Given the description of an element on the screen output the (x, y) to click on. 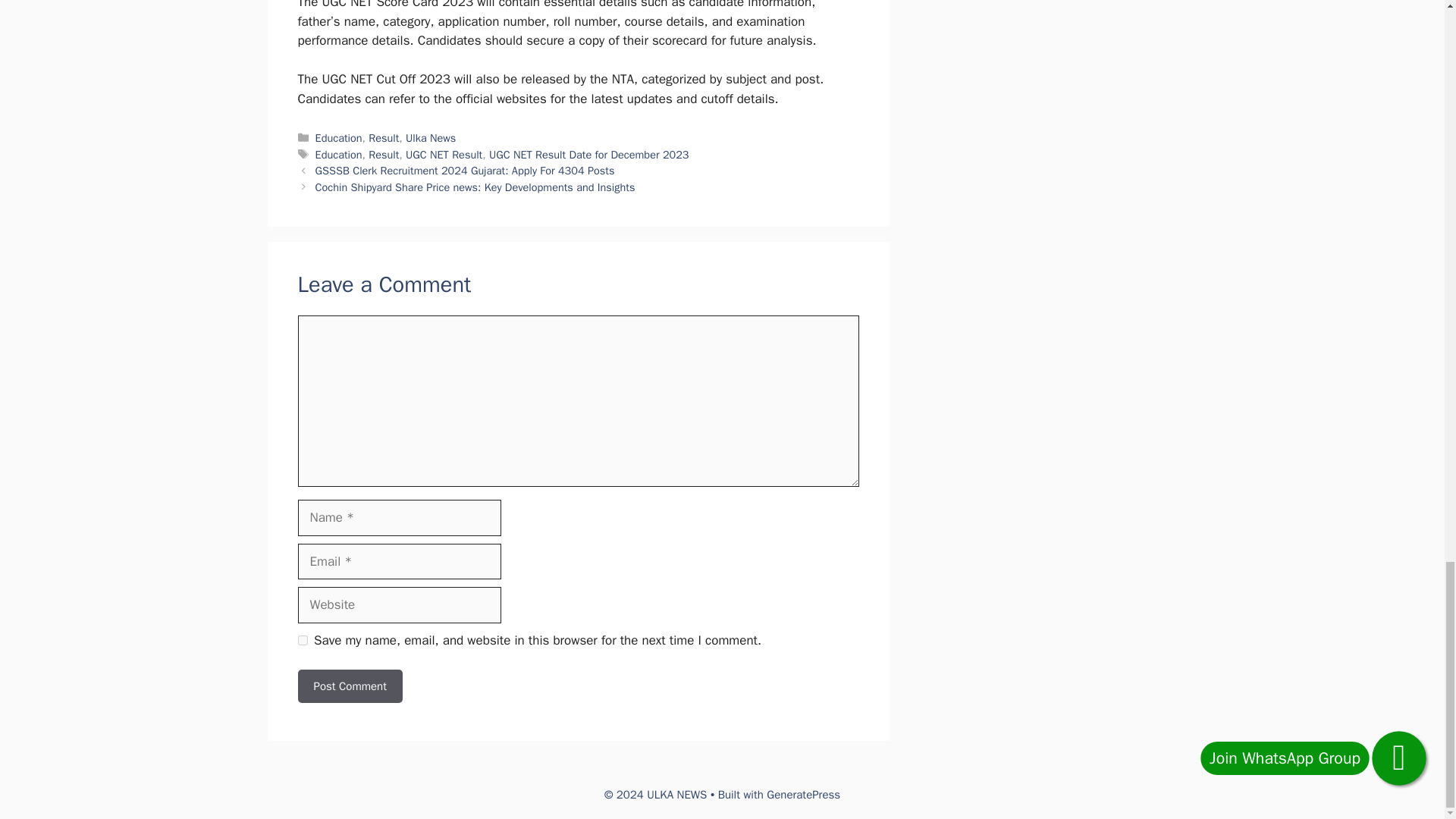
UGC NET Result Date for December 2023 (588, 154)
Result (383, 154)
Result (383, 137)
UGC NET Result (443, 154)
yes (302, 640)
Post Comment (349, 686)
Education (338, 137)
Education (338, 154)
GSSSB Clerk Recruitment 2024 Gujarat: Apply For 4304 Posts (464, 170)
